Given the description of an element on the screen output the (x, y) to click on. 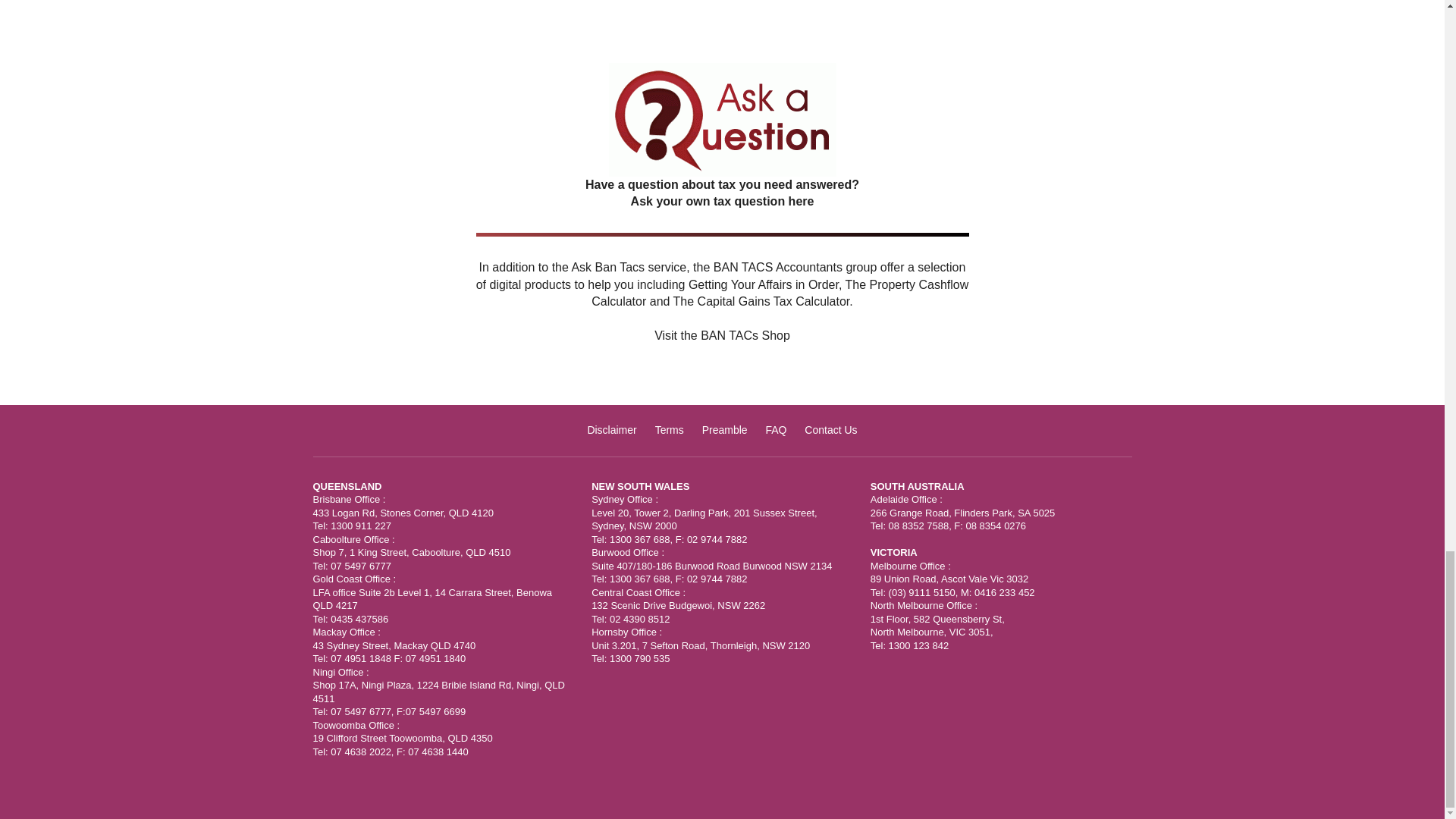
Have a question about tax you need answered? (722, 217)
